Given the description of an element on the screen output the (x, y) to click on. 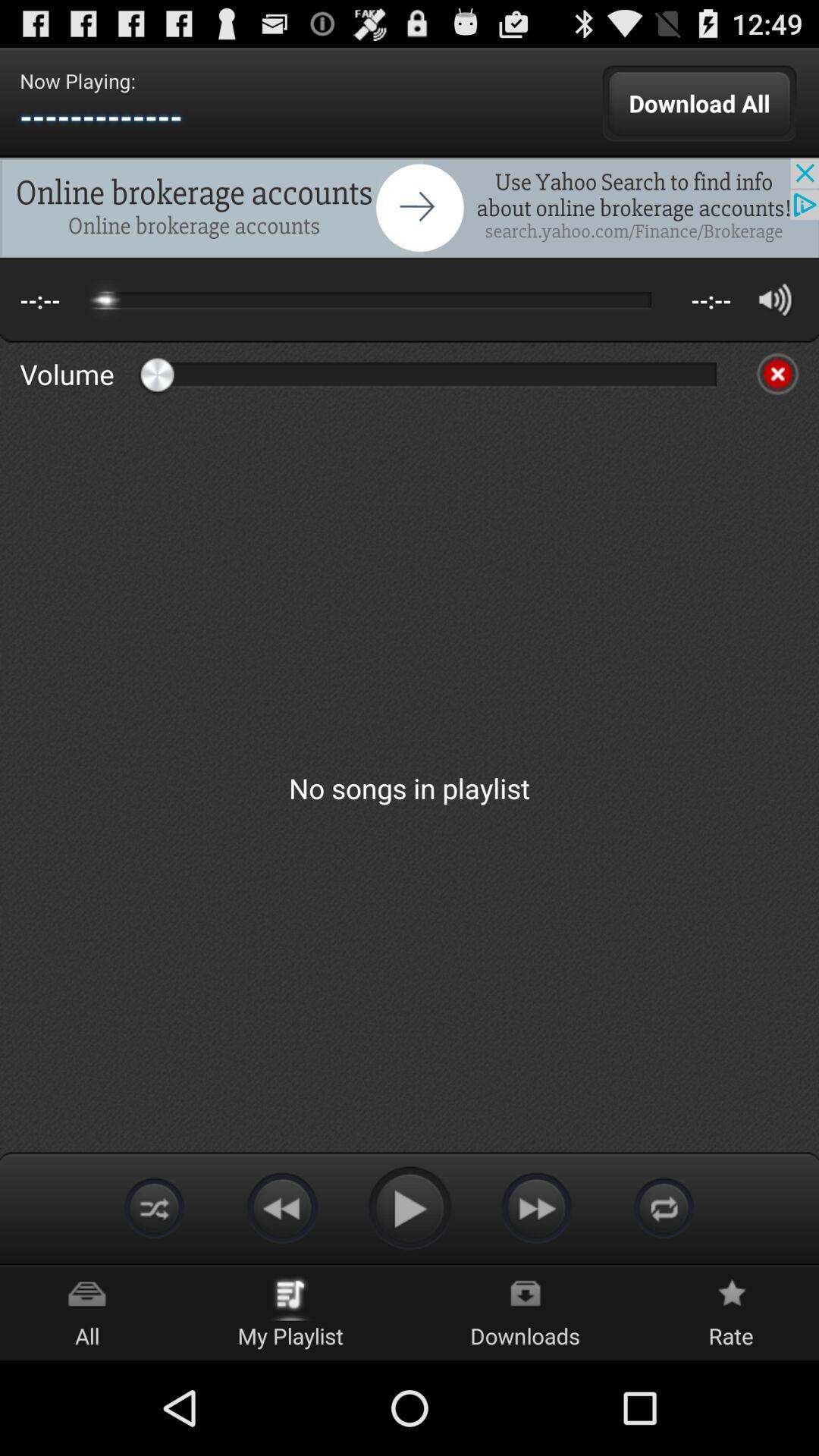
return song (281, 1207)
